Given the description of an element on the screen output the (x, y) to click on. 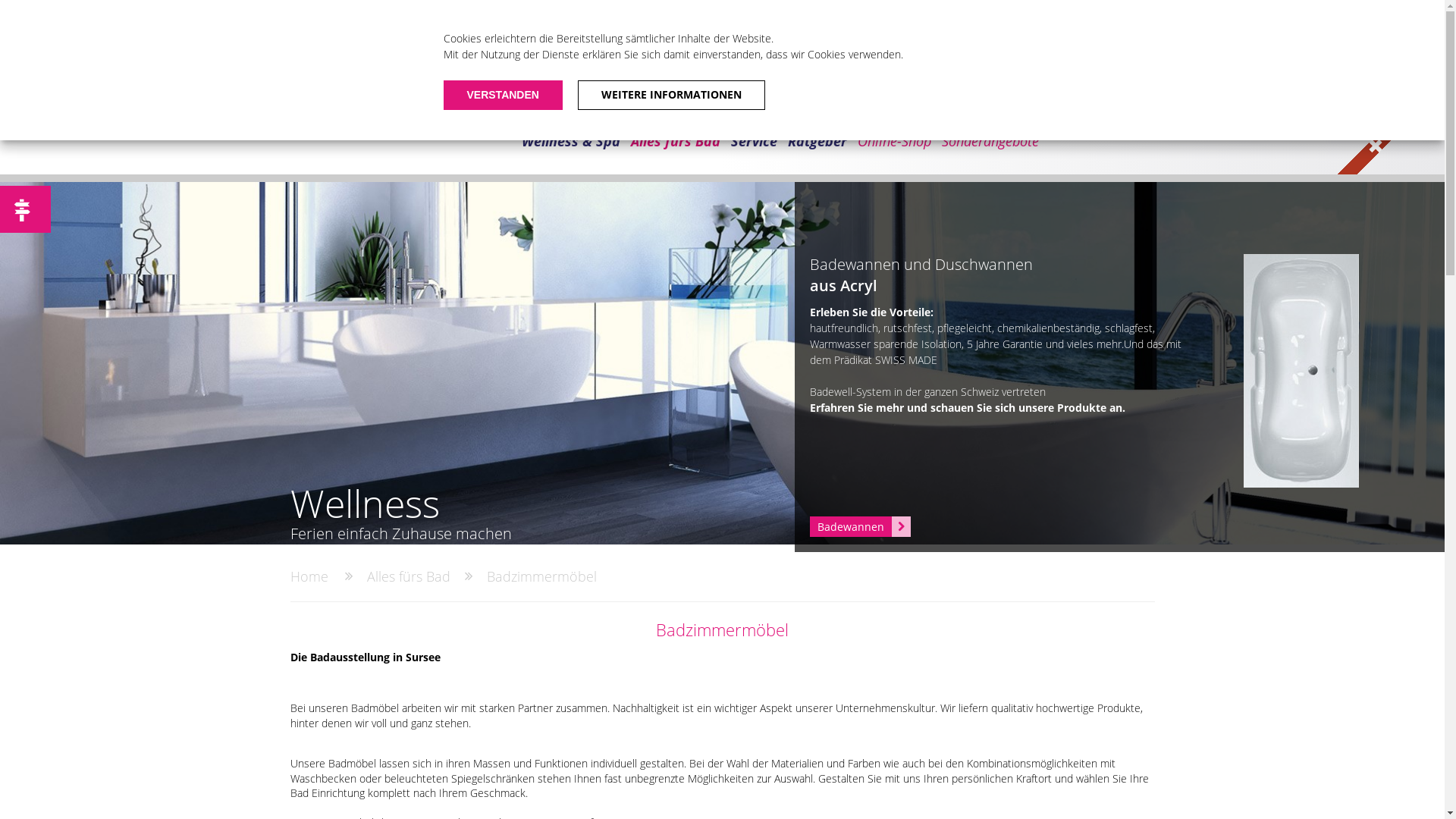
Schweizer Badewannen Hersteller Element type: text (1390, 120)
Online-Shop Element type: text (894, 141)
Ausstellung Element type: text (912, 10)
News Element type: text (855, 10)
Home Element type: text (749, 10)
WEITERE INFORMATIONEN Element type: text (671, 94)
Suchen Element type: text (25, 12)
Home Element type: text (308, 575)
Kontakt Element type: text (1128, 10)
Service Element type: text (753, 141)
VERSTANDEN Element type: text (501, 94)
Testraum Element type: text (980, 10)
Wellness & Spa Element type: text (570, 141)
Ratgeber Element type: text (817, 141)
Badewannen Element type: text (859, 526)
Badewell AG - Ihr privates Wellness-Ressort Element type: hover (390, 109)
Suchen Element type: hover (1142, 36)
Sonderangebote Element type: text (989, 141)
